Given the description of an element on the screen output the (x, y) to click on. 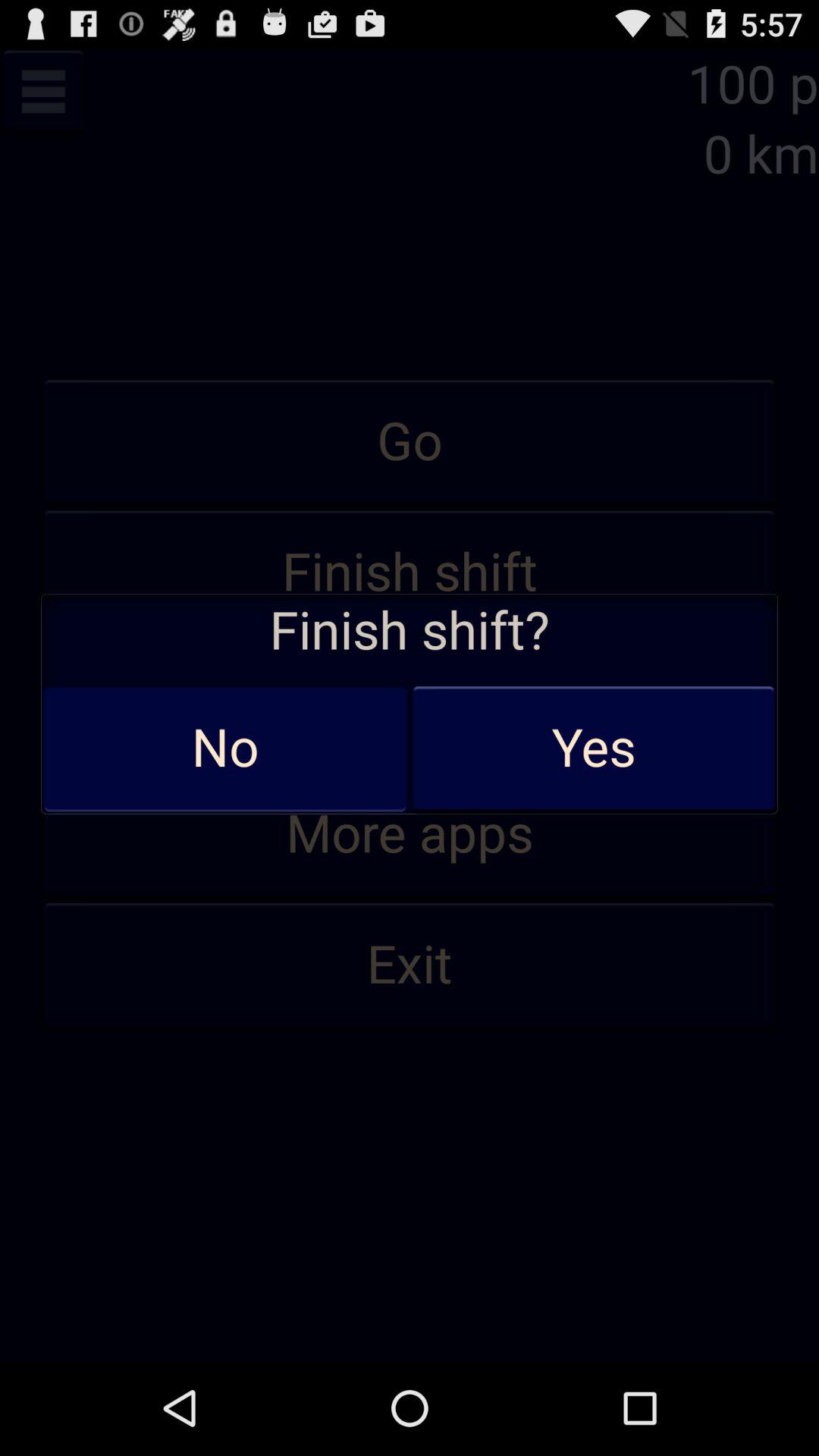
press icon to the left of the yes (224, 748)
